Given the description of an element on the screen output the (x, y) to click on. 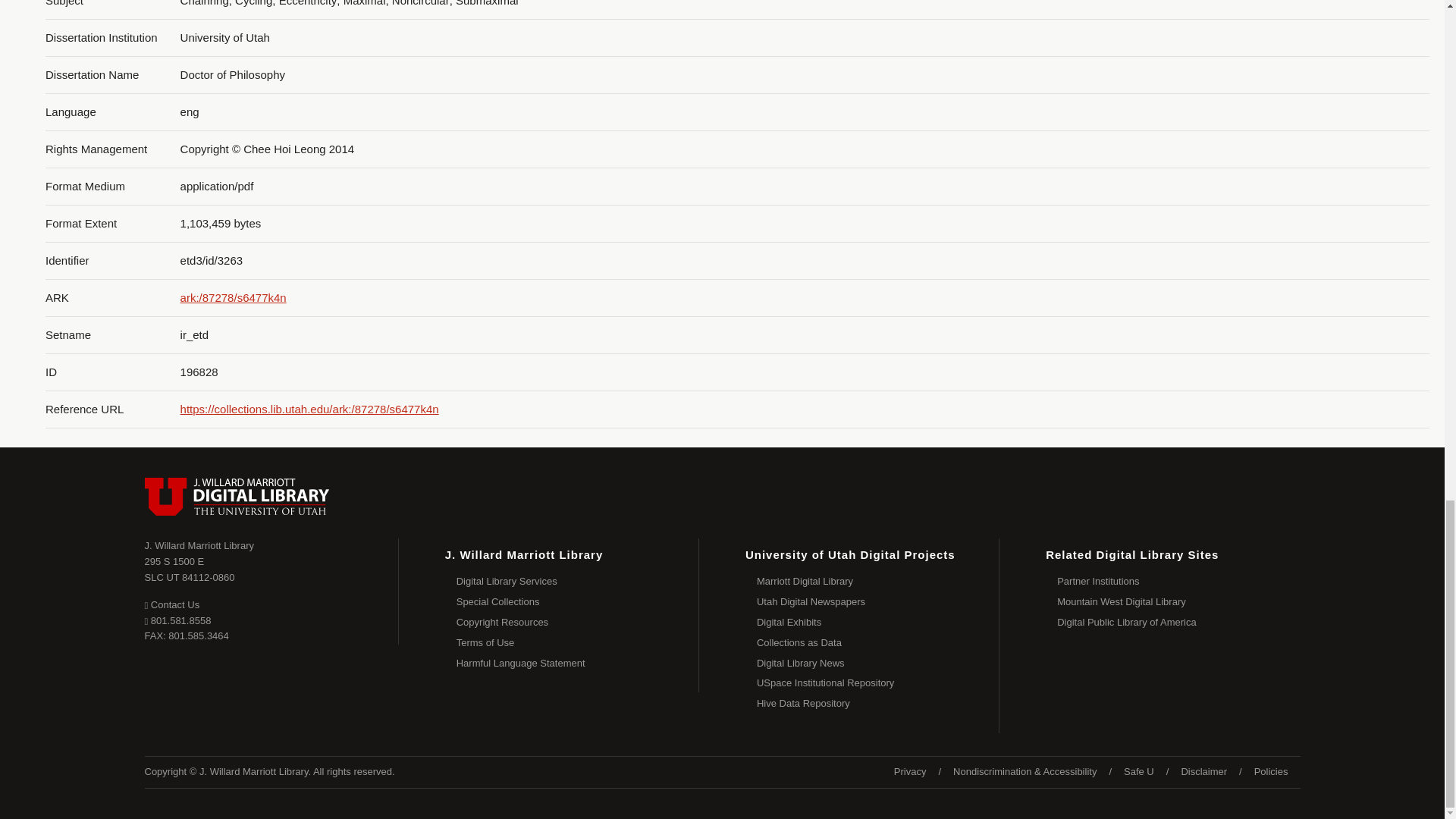
Digital Public Library of America (1178, 622)
Mountain West Digital Library (189, 569)
Partner Institutions (1178, 602)
Utah Digital Newspapers (1178, 581)
Digital Library News (877, 602)
Digital Exhibits (877, 663)
Hive Data Repository (877, 622)
Safe U (877, 703)
Contact Us (1139, 771)
Privacy (171, 604)
USpace Institutional Repository (910, 771)
Marriott Digital Library (877, 683)
Special Collections (877, 581)
Harmful Language Statement (577, 602)
